Given the description of an element on the screen output the (x, y) to click on. 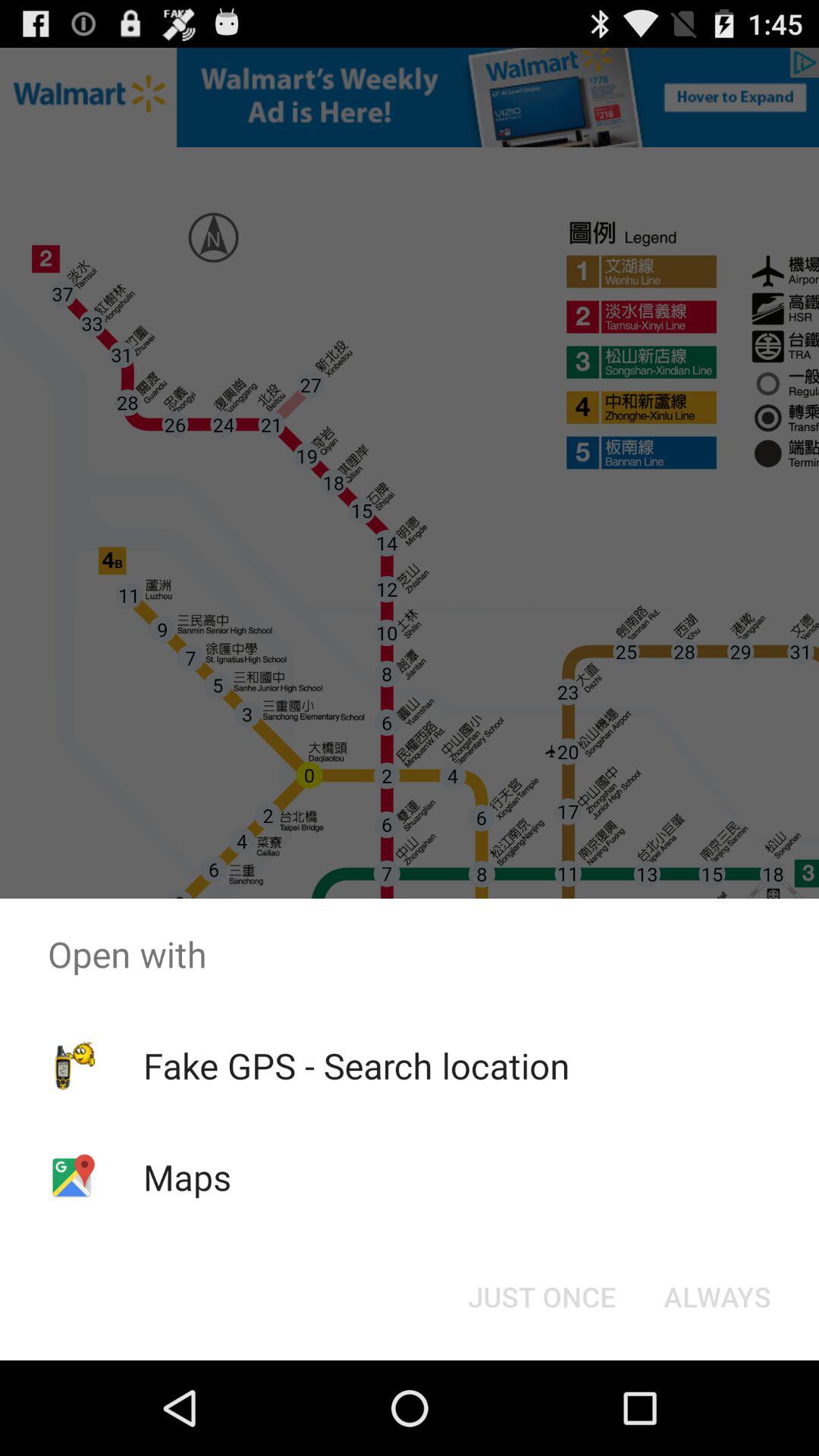
press the item next to the always item (541, 1296)
